Given the description of an element on the screen output the (x, y) to click on. 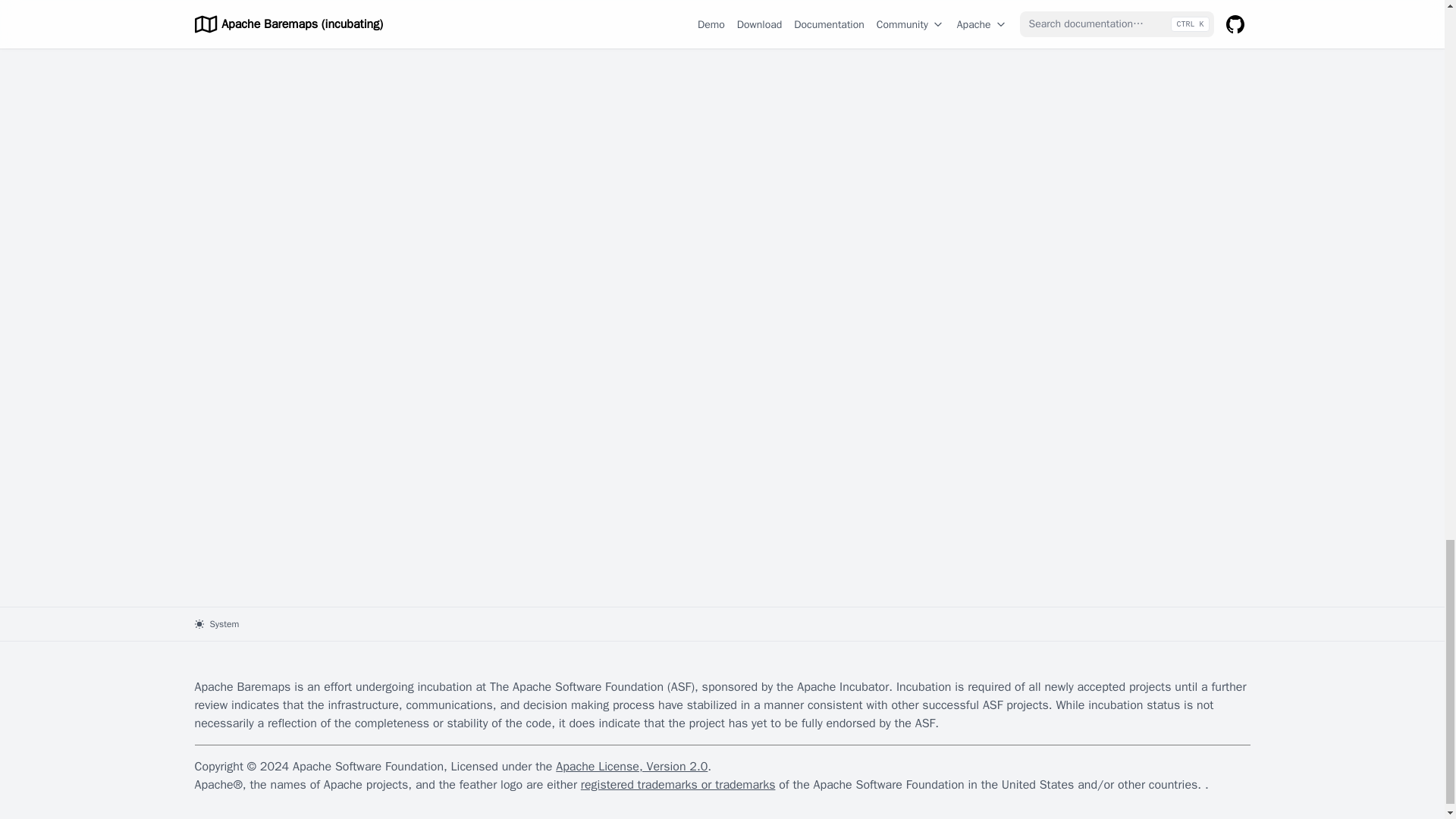
Change theme (215, 623)
